Given the description of an element on the screen output the (x, y) to click on. 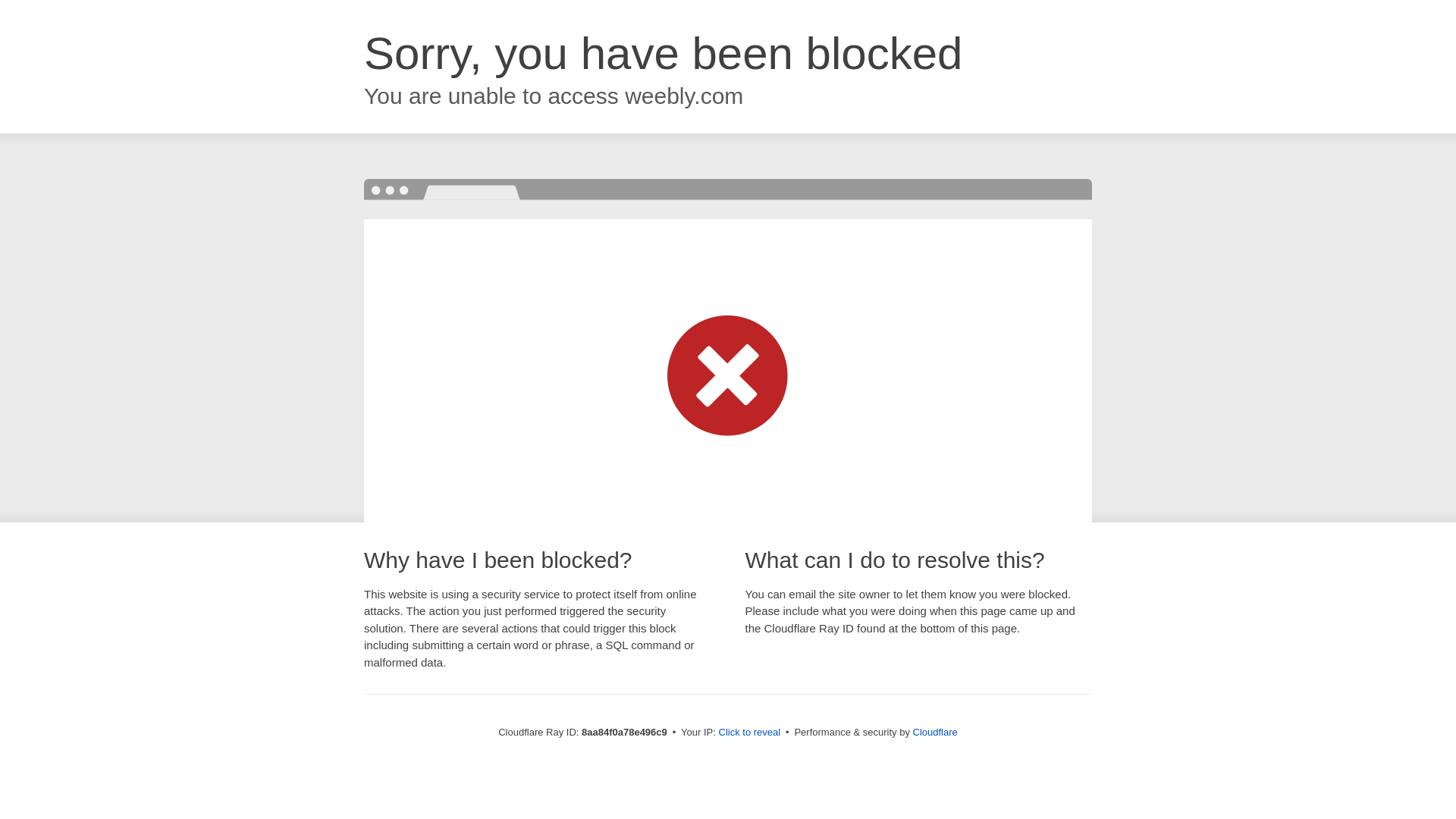
Click to reveal (749, 732)
Cloudflare (935, 731)
